Given the description of an element on the screen output the (x, y) to click on. 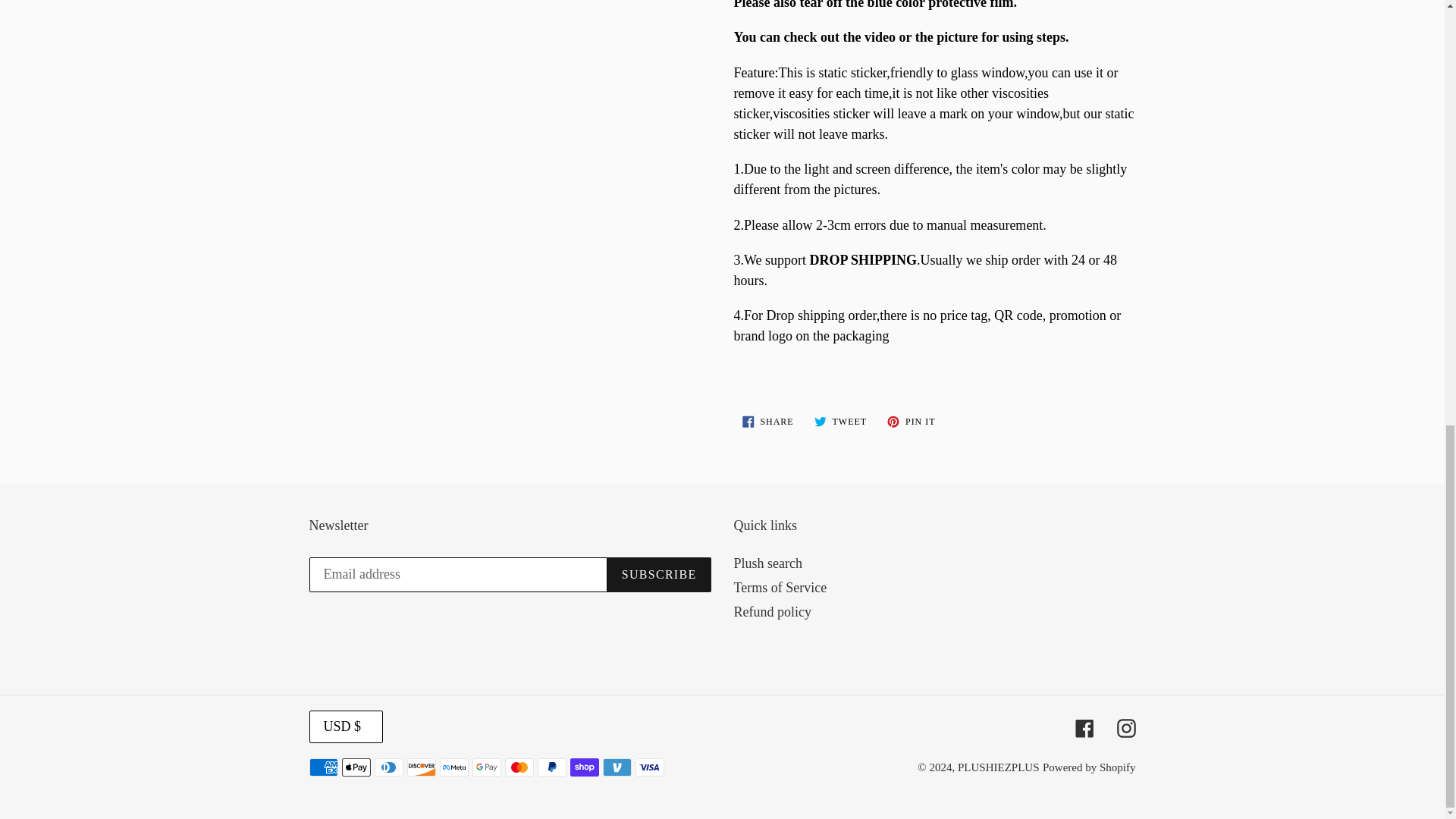
Terms of Service (840, 421)
Plush search (780, 587)
Refund policy (911, 421)
SUBSCRIBE (767, 563)
